Given the description of an element on the screen output the (x, y) to click on. 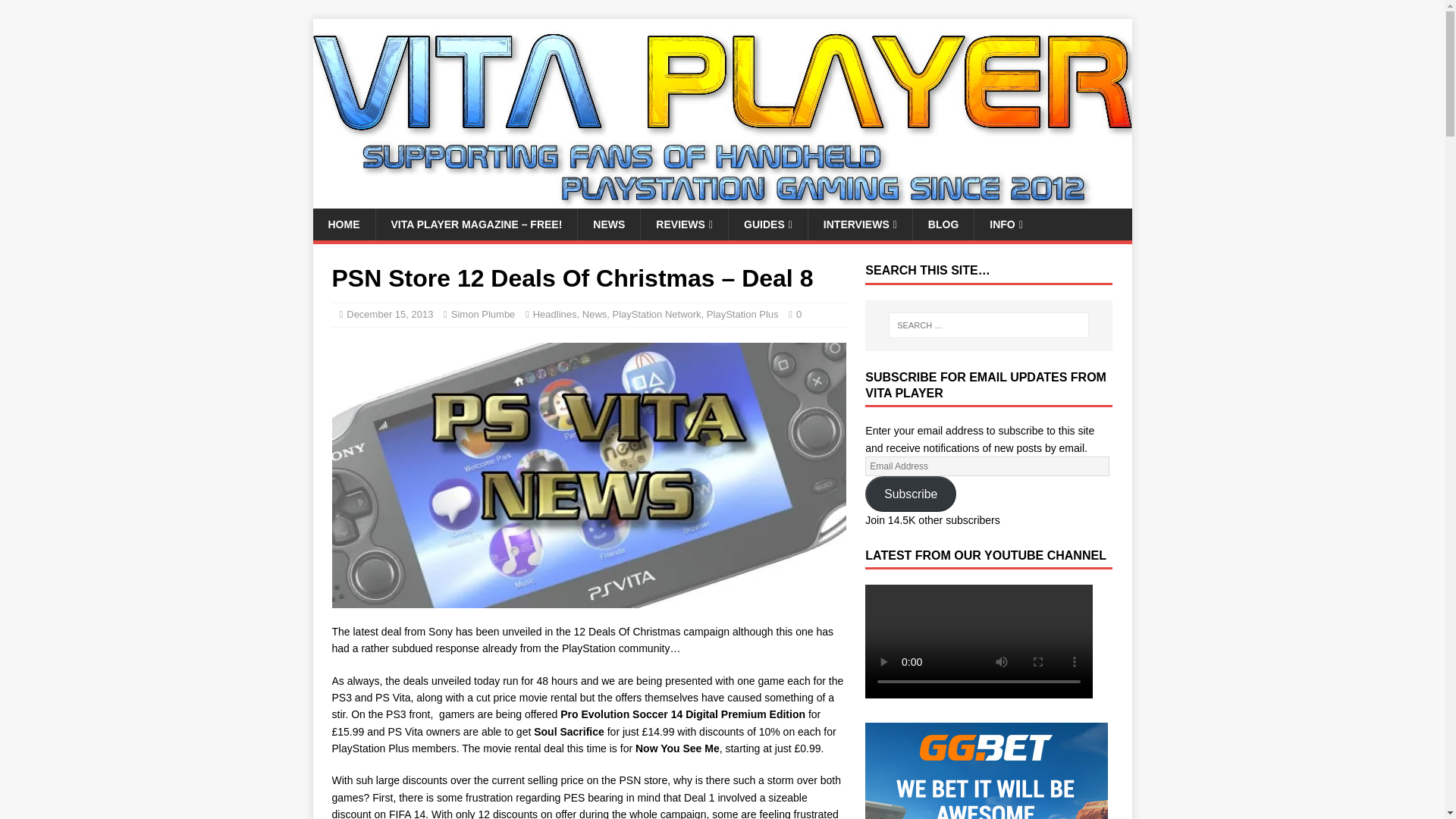
BLOG (943, 224)
HOME (343, 224)
INTERVIEWS (860, 224)
NEWS (608, 224)
REVIEWS (684, 224)
INFO (1006, 224)
Vita Player - the one-stop resource for PS Vita owners (722, 200)
GUIDES (768, 224)
